Given the description of an element on the screen output the (x, y) to click on. 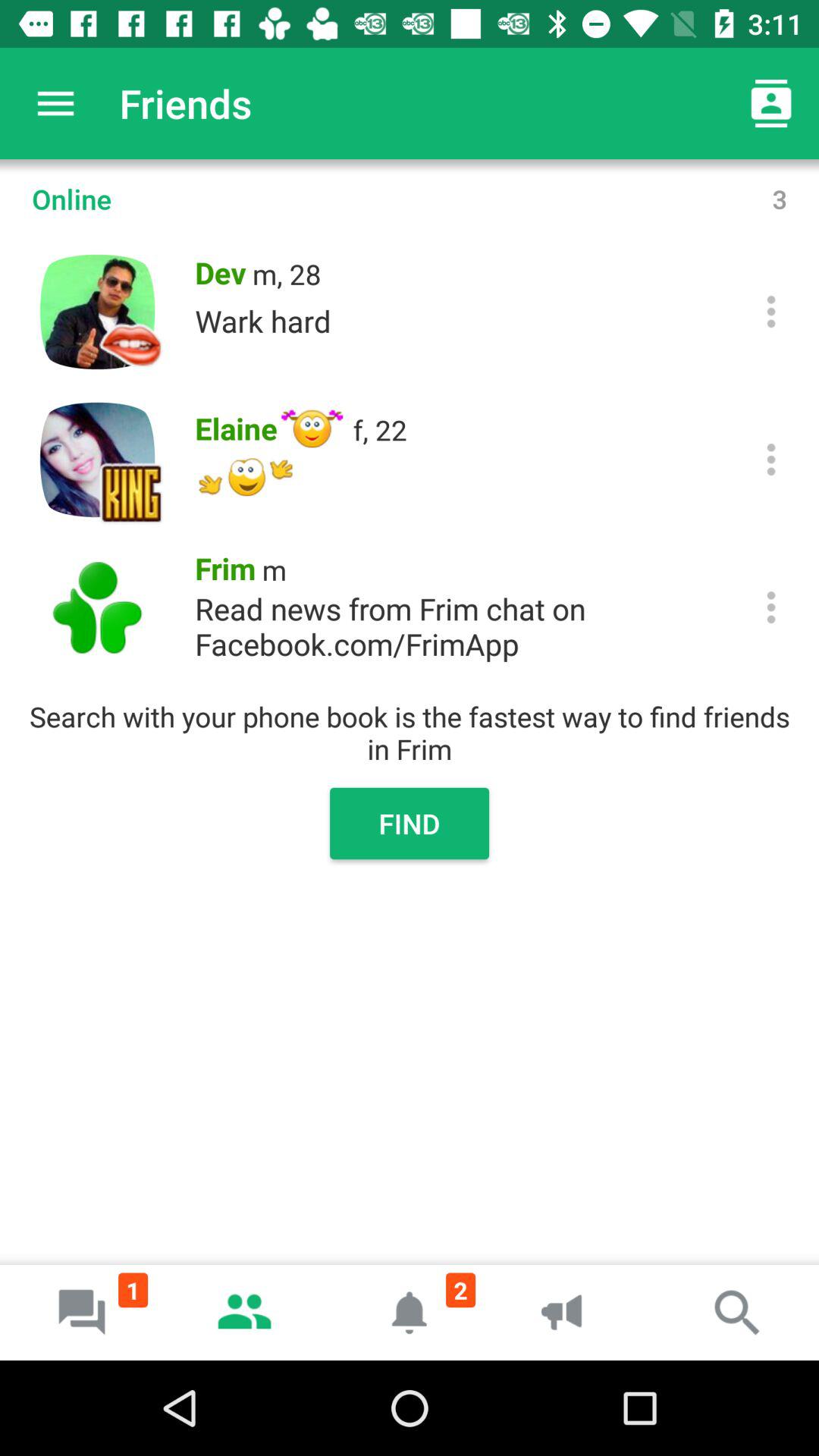
click more options from frim (771, 607)
